Given the description of an element on the screen output the (x, y) to click on. 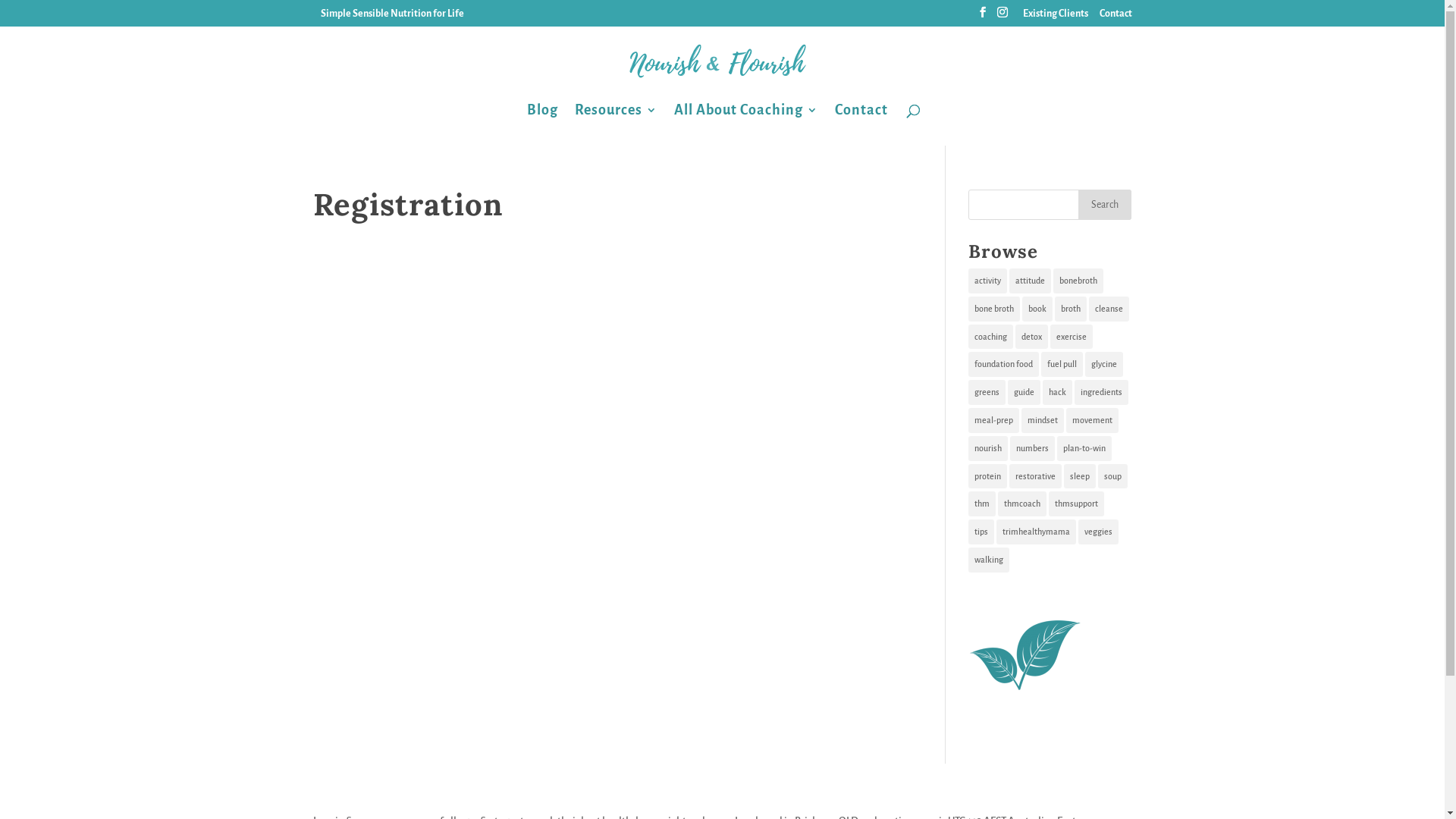
cleanse Element type: text (1108, 308)
plan-to-win Element type: text (1084, 448)
Search Element type: text (1104, 204)
bone broth Element type: text (993, 308)
detox Element type: text (1031, 336)
thm Element type: text (981, 503)
greens Element type: text (986, 391)
Existing Clients Element type: text (1054, 16)
restorative Element type: text (1035, 476)
nourish Element type: text (987, 448)
soup Element type: text (1112, 476)
Contact Element type: text (1115, 16)
ingredients Element type: text (1101, 391)
book Element type: text (1037, 308)
glycine Element type: text (1104, 363)
numbers Element type: text (1032, 448)
walking Element type: text (988, 559)
Blog Element type: text (541, 124)
foundation food Element type: text (1003, 363)
fuel pull Element type: text (1061, 363)
hack Element type: text (1057, 391)
meal-prep Element type: text (993, 420)
trimhealthymama Element type: text (1036, 531)
tips Element type: text (981, 531)
All About Coaching Element type: text (745, 124)
movement Element type: text (1092, 420)
broth Element type: text (1070, 308)
protein Element type: text (987, 476)
Resources Element type: text (615, 124)
exercise Element type: text (1071, 336)
veggies Element type: text (1098, 531)
coaching Element type: text (990, 336)
Contact Element type: text (860, 124)
bonebroth Element type: text (1078, 280)
sleep Element type: text (1079, 476)
activity Element type: text (987, 280)
thmsupport Element type: text (1076, 503)
attitude Element type: text (1030, 280)
mindset Element type: text (1042, 420)
guide Element type: text (1023, 391)
thmcoach Element type: text (1021, 503)
